Given the description of an element on the screen output the (x, y) to click on. 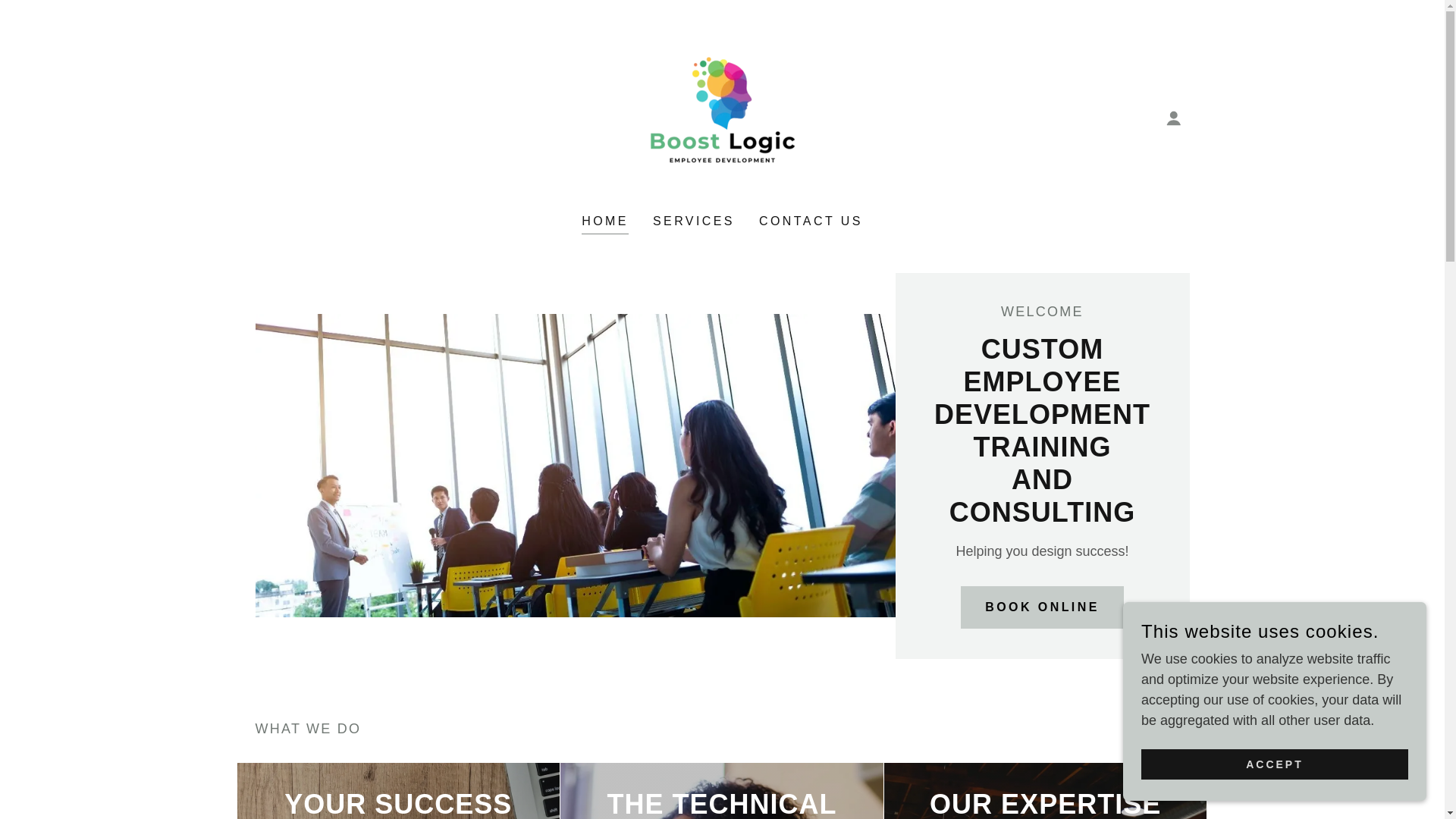
Boost Logic (721, 117)
CONTACT US (810, 221)
ACCEPT (1274, 764)
BOOK ONLINE (1042, 607)
SERVICES (693, 221)
HOME (604, 223)
